Given the description of an element on the screen output the (x, y) to click on. 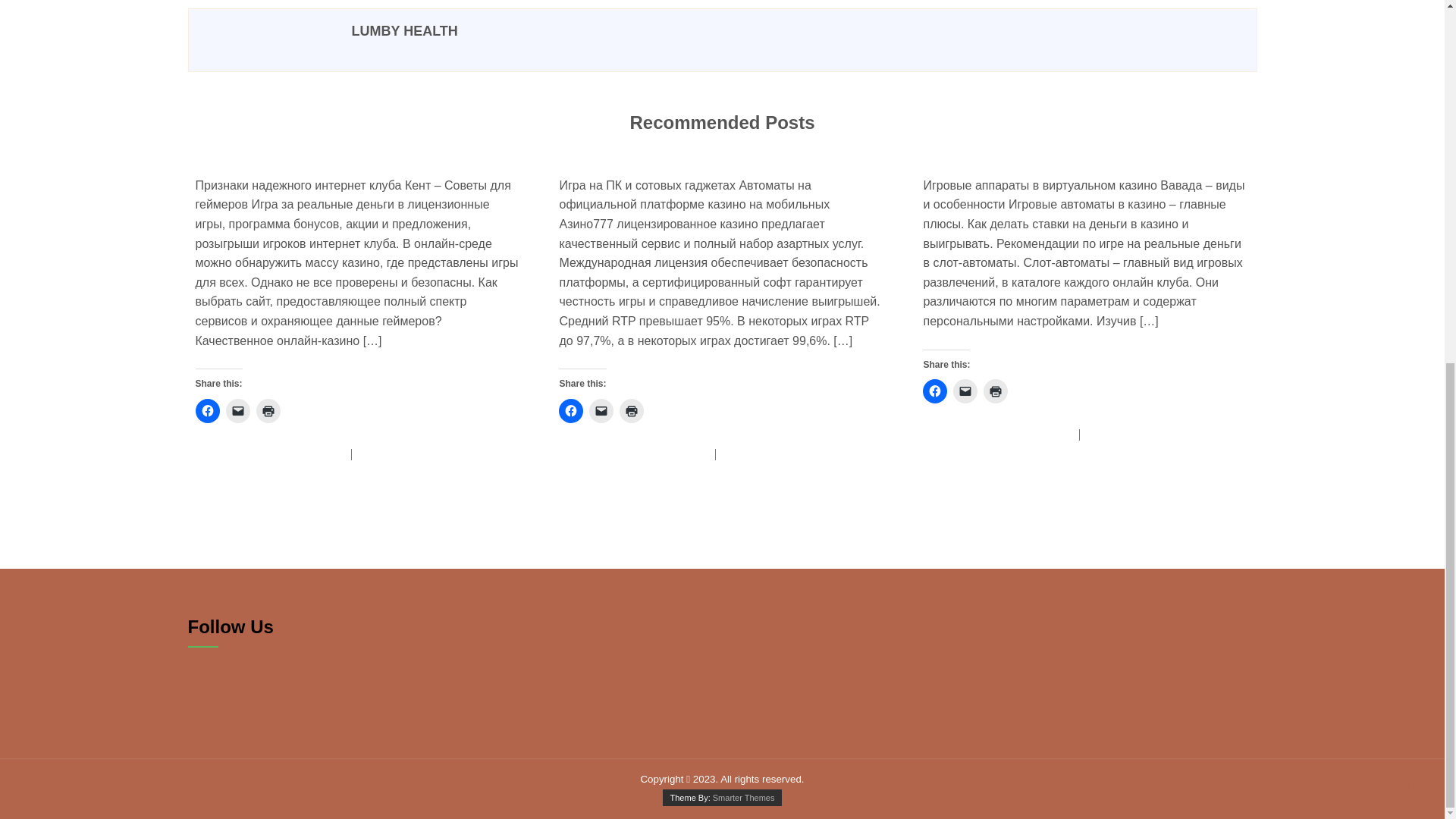
Click to email a link to a friend (600, 410)
Click to share on Facebook (935, 391)
Click to print (995, 391)
Click to print (268, 410)
Click to email a link to a friend (964, 391)
Click to share on Facebook (207, 410)
Click to print (631, 410)
Click to email a link to a friend (237, 410)
Click to share on Facebook (571, 410)
